Given the description of an element on the screen output the (x, y) to click on. 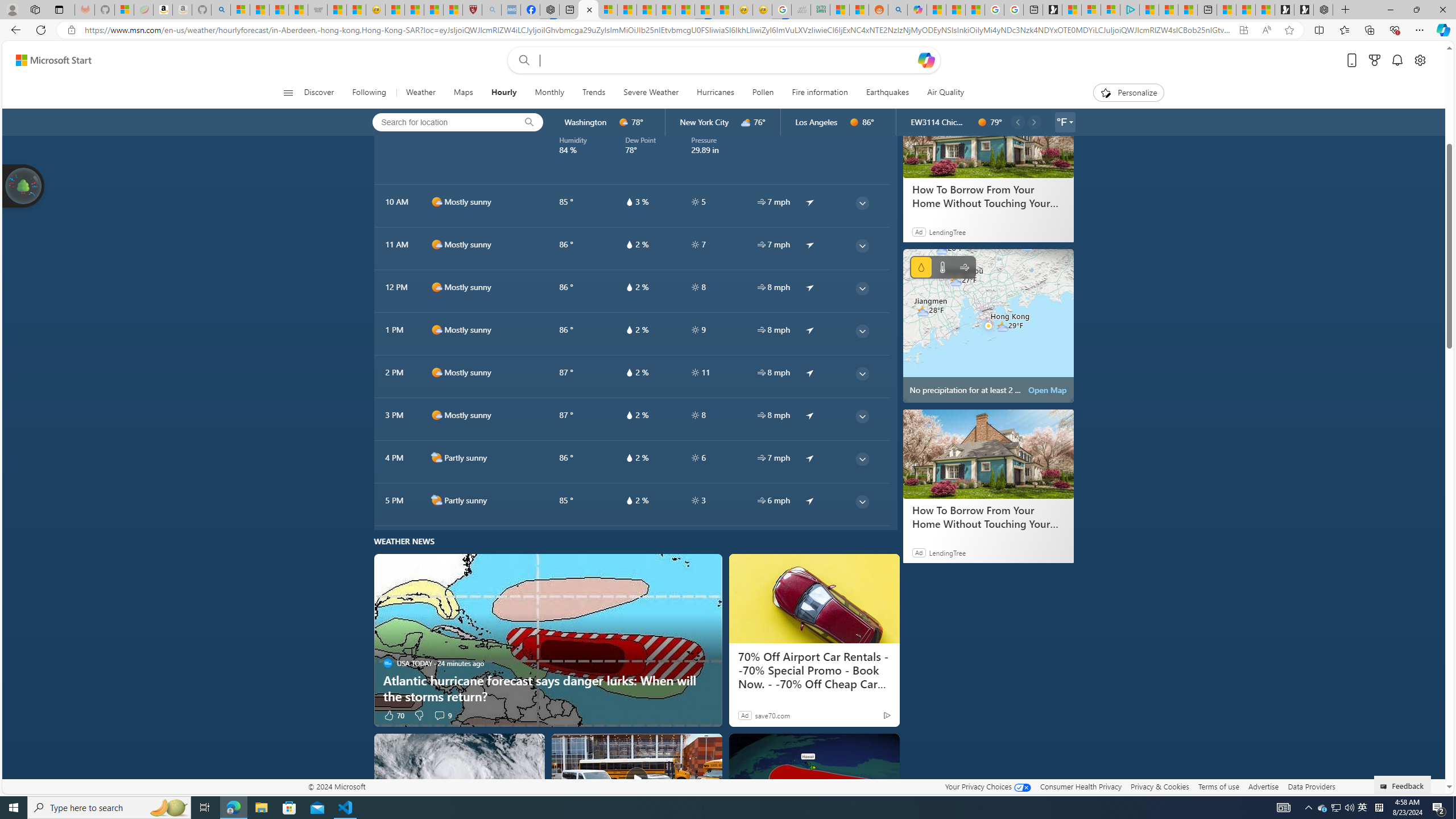
Pollen (762, 92)
Hourly (503, 92)
View comments 9 Comment (442, 714)
Data Providers (1311, 785)
Enter your search term (726, 59)
Privacy & Cookies (1160, 785)
Recipes - MSN (394, 9)
